Given the description of an element on the screen output the (x, y) to click on. 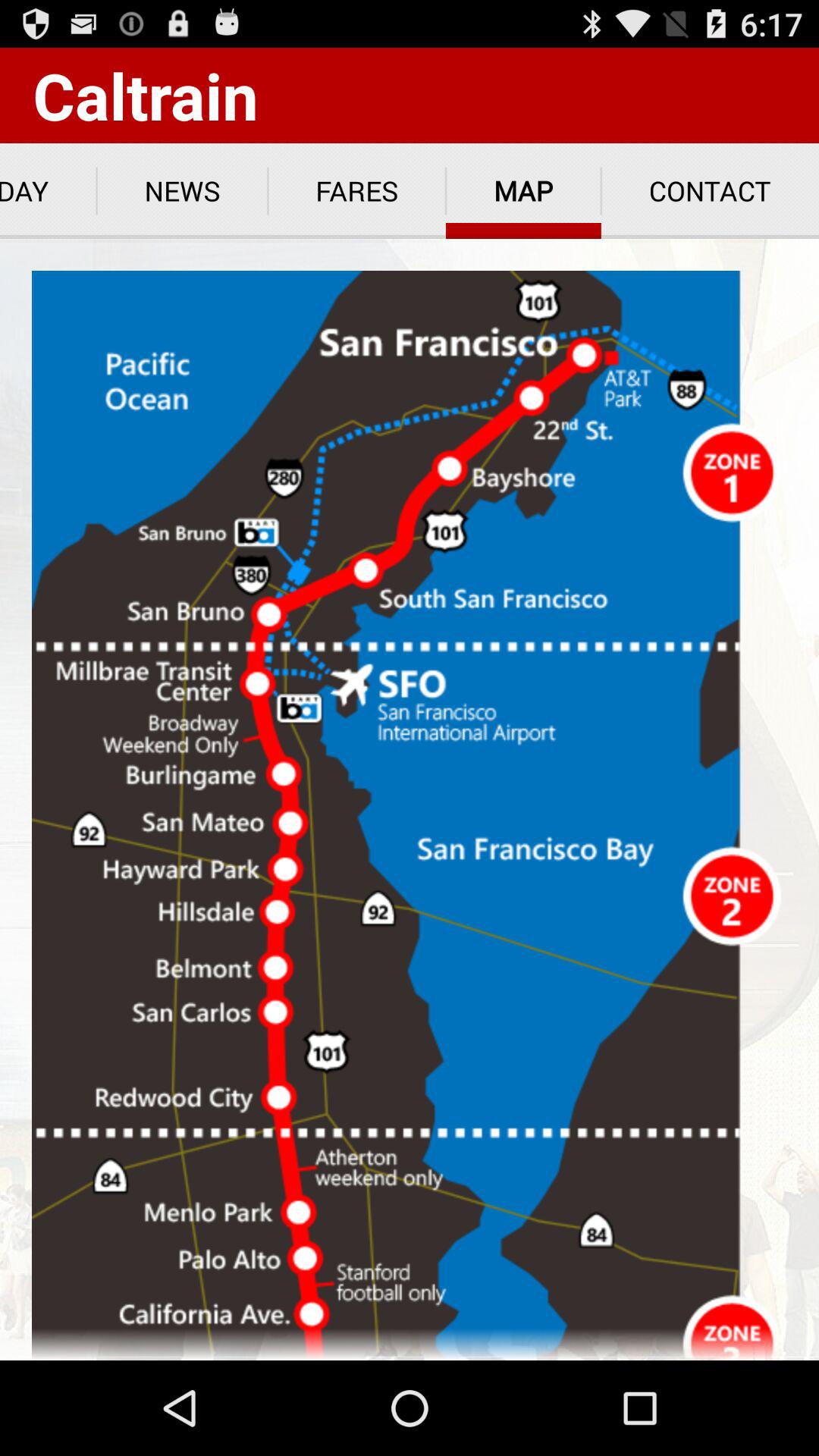
click the icon next to the map app (356, 190)
